Given the description of an element on the screen output the (x, y) to click on. 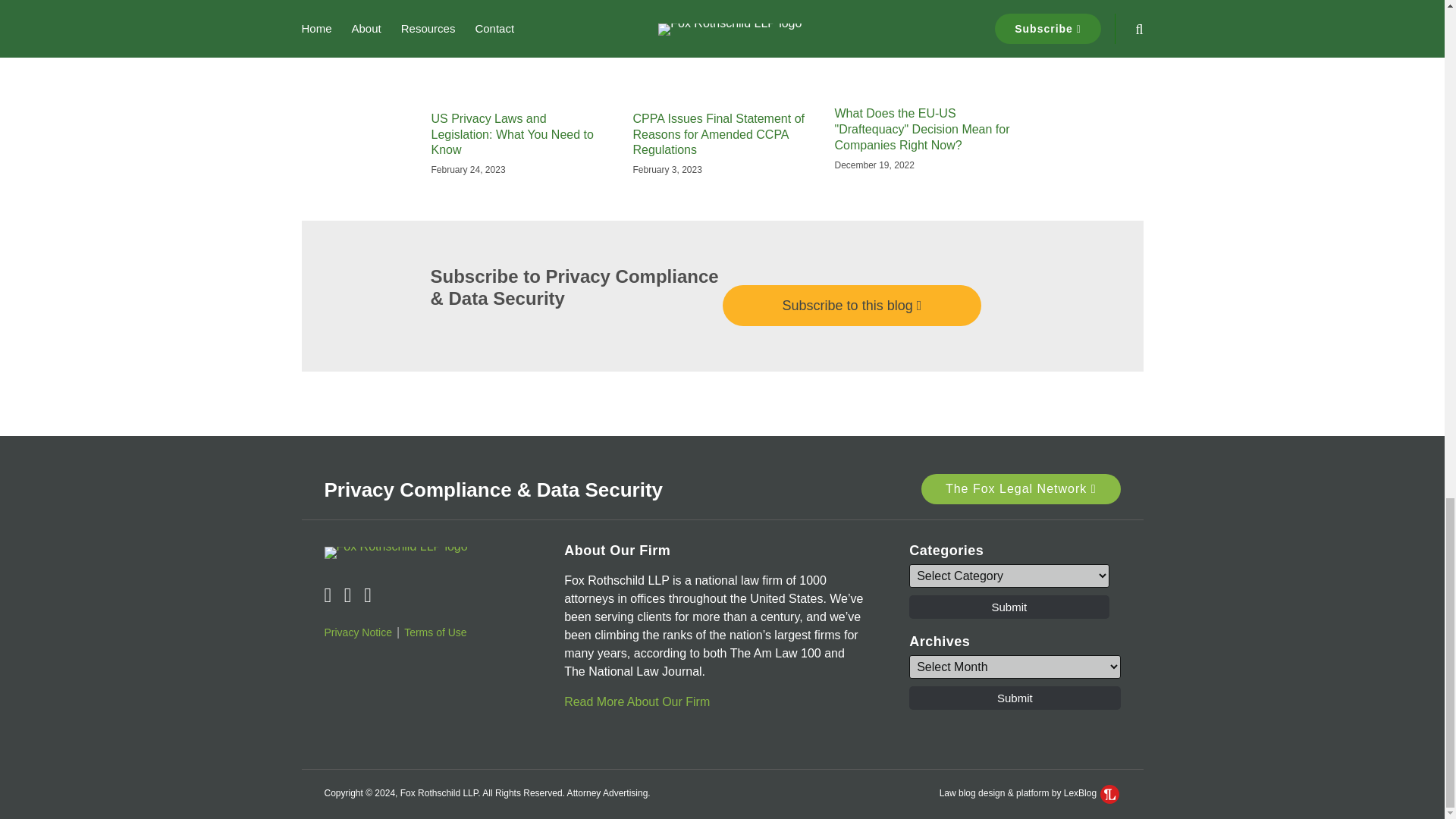
US Privacy Laws and Legislation: What You Need to Know (520, 134)
Submit (1013, 698)
Submit (1008, 607)
Submit (1008, 607)
The Fox Legal Network (1021, 489)
Submit (1013, 698)
Terms of Use (434, 632)
Read More About Our Firm (637, 701)
Privacy Notice (357, 632)
LexBlog Logo (1109, 793)
Subscribe to this blog (851, 305)
